Given the description of an element on the screen output the (x, y) to click on. 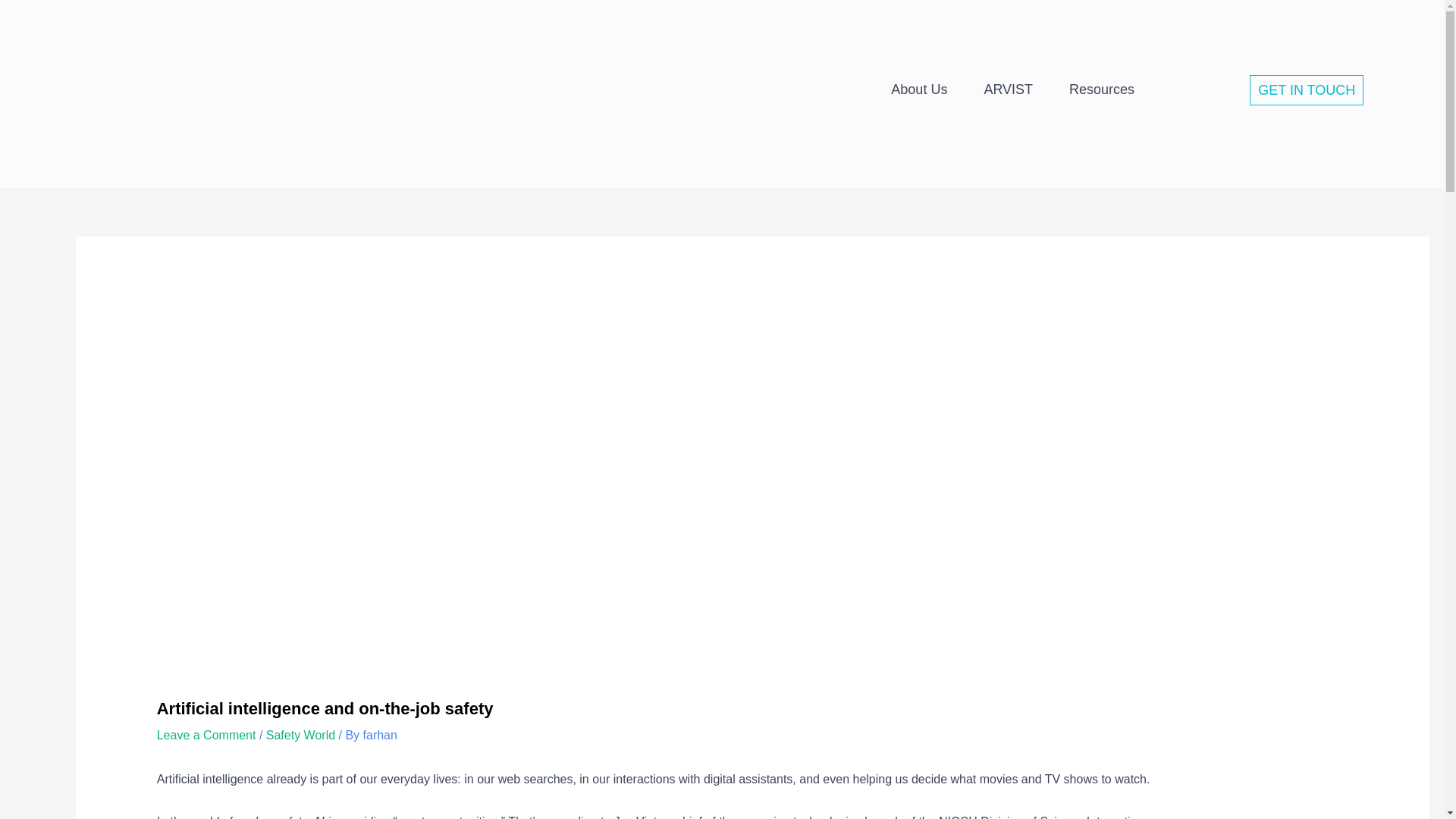
GET IN TOUCH (1305, 90)
About Us (918, 88)
bgs logo long (217, 87)
ARVIST (1007, 88)
Resources (1101, 88)
View all posts by farhan (379, 735)
